Given the description of an element on the screen output the (x, y) to click on. 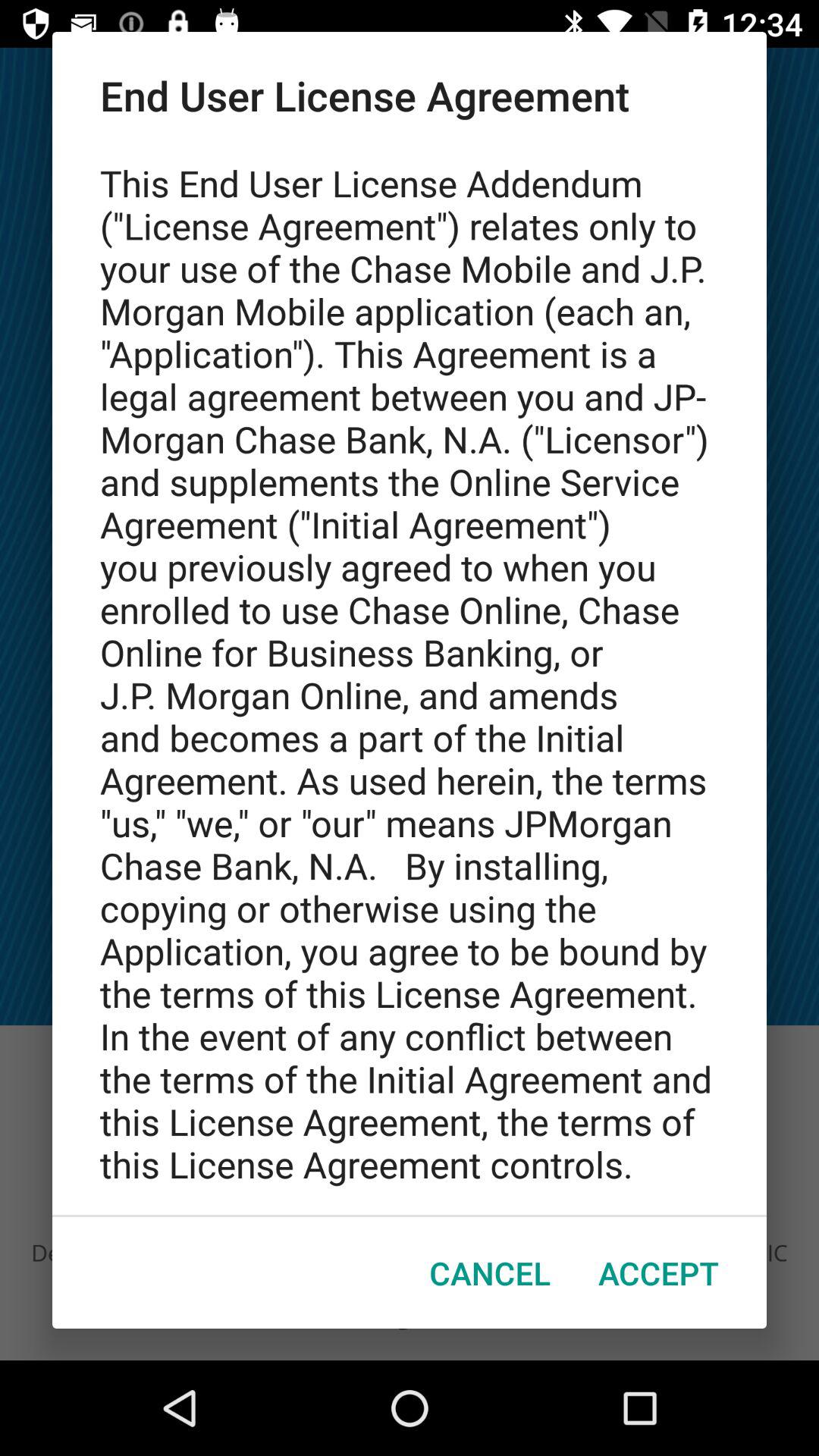
launch the app below this end user app (658, 1272)
